Given the description of an element on the screen output the (x, y) to click on. 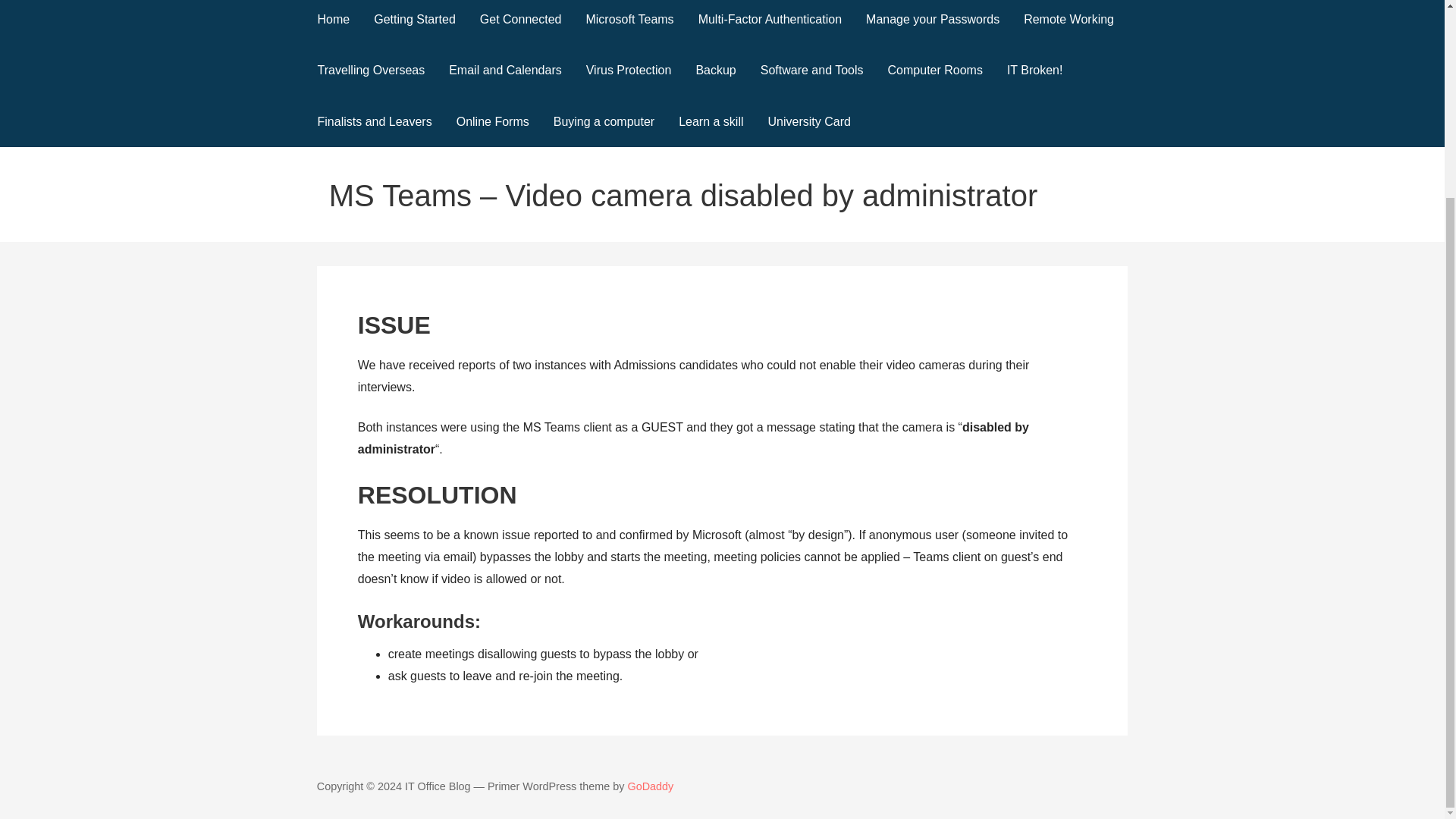
Microsoft Teams (629, 22)
Manage your Passwords (932, 22)
Software and Tools (812, 70)
Travelling Overseas (370, 70)
Email and Calendars (504, 70)
Get Connected (520, 22)
Home (332, 22)
Virus Protection (628, 70)
Backup (715, 70)
Multi-Factor Authentication (769, 22)
